Given the description of an element on the screen output the (x, y) to click on. 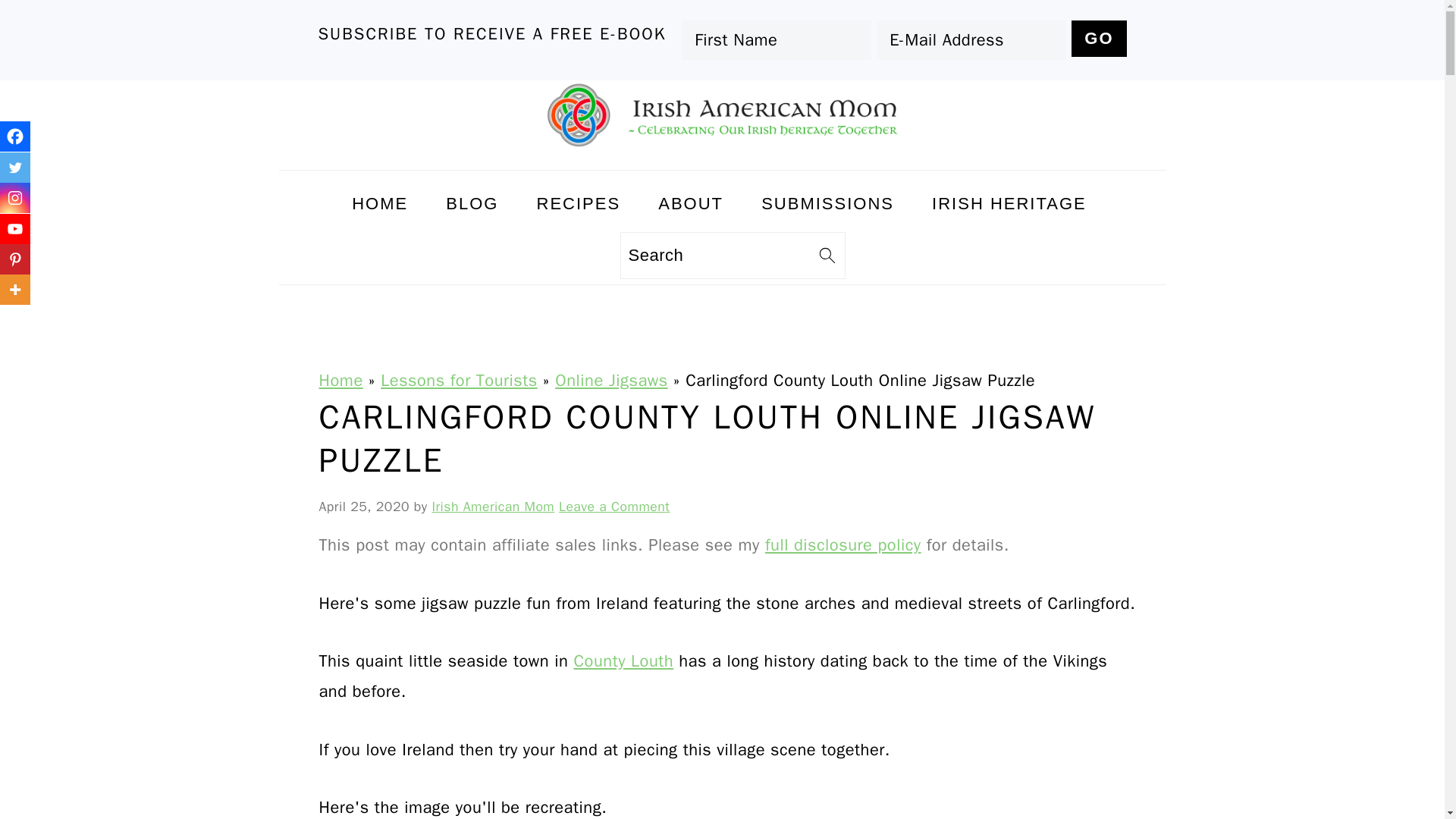
RECIPES (579, 203)
Leave a Comment (614, 506)
Irish American Mom (492, 506)
Go (1098, 38)
BLOG (471, 203)
Home (340, 380)
SUBMISSIONS (827, 203)
full disclosure policy (843, 545)
County Louth (622, 660)
Irish American Mom (721, 113)
Online Jigsaws (610, 380)
ABOUT (690, 203)
Go (1098, 38)
